Given the description of an element on the screen output the (x, y) to click on. 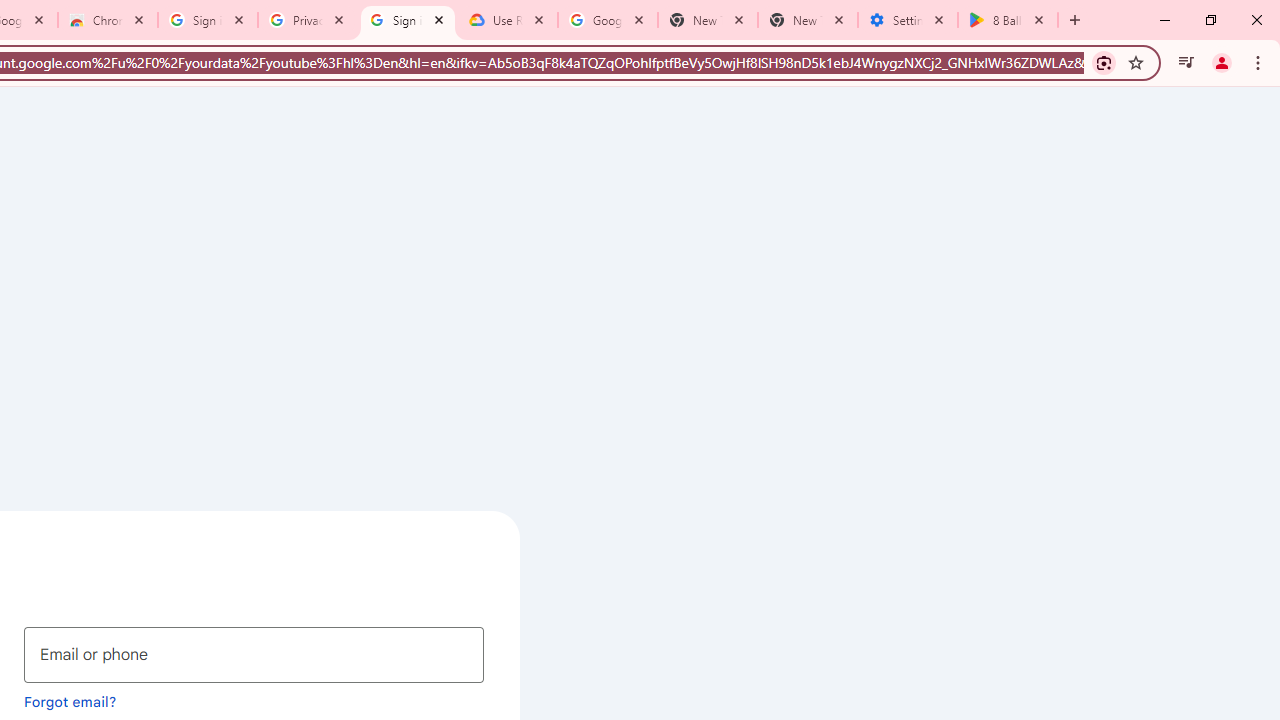
Chrome Web Store - Color themes by Chrome (107, 20)
Search with Google Lens (1103, 62)
Email or phone (253, 654)
